Given the description of an element on the screen output the (x, y) to click on. 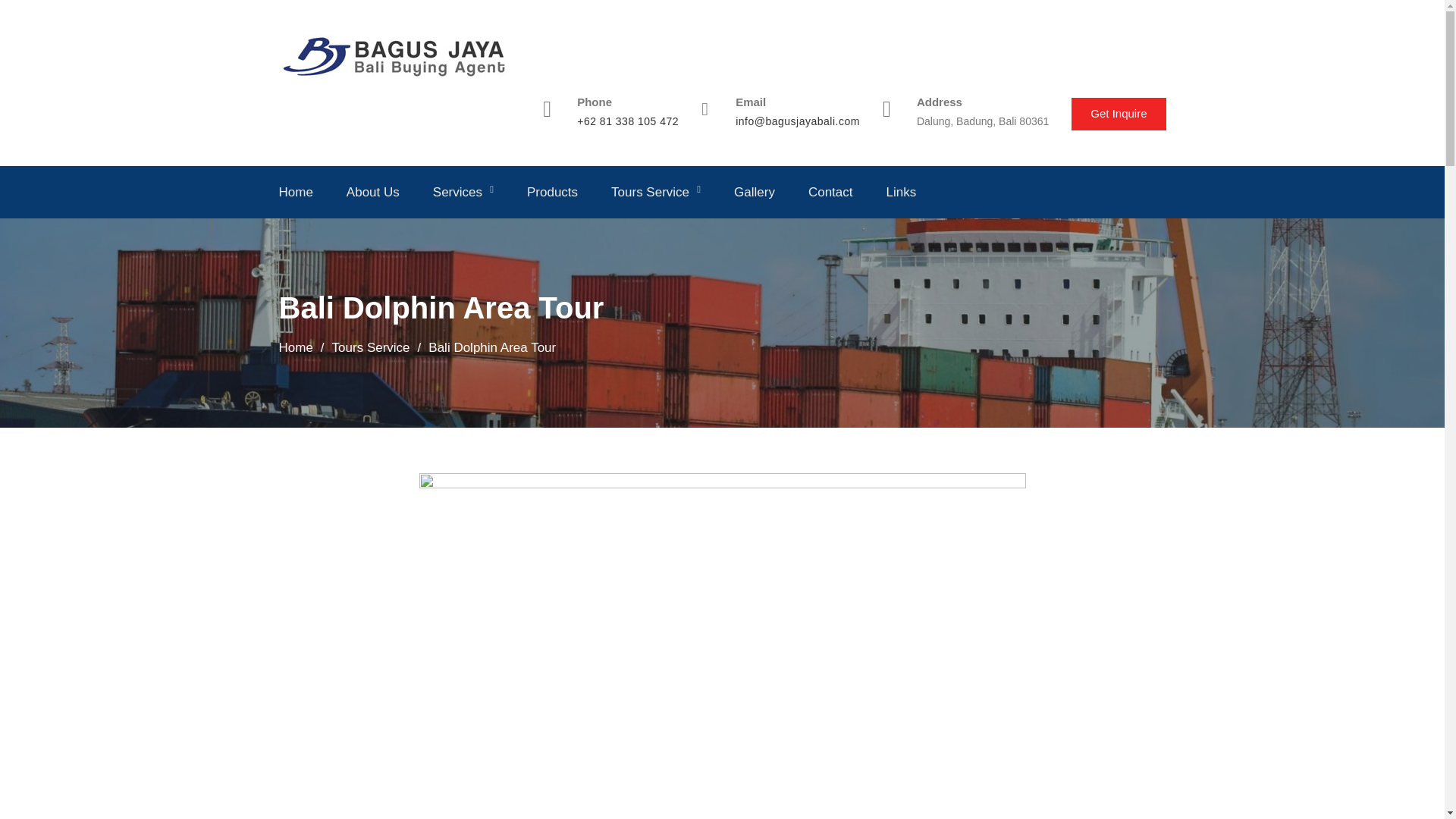
Bali Half Day Tour (678, 233)
Services (462, 191)
Tours Service (655, 191)
Bali Full Day Tour (678, 233)
Get Inquire (1118, 113)
About Us (372, 191)
Freight Forwarding Agent (501, 233)
Sourcing Agent (501, 233)
Links (901, 191)
Home (296, 347)
Contact (830, 191)
Gallery (753, 191)
Products (552, 191)
Home (296, 191)
